Given the description of an element on the screen output the (x, y) to click on. 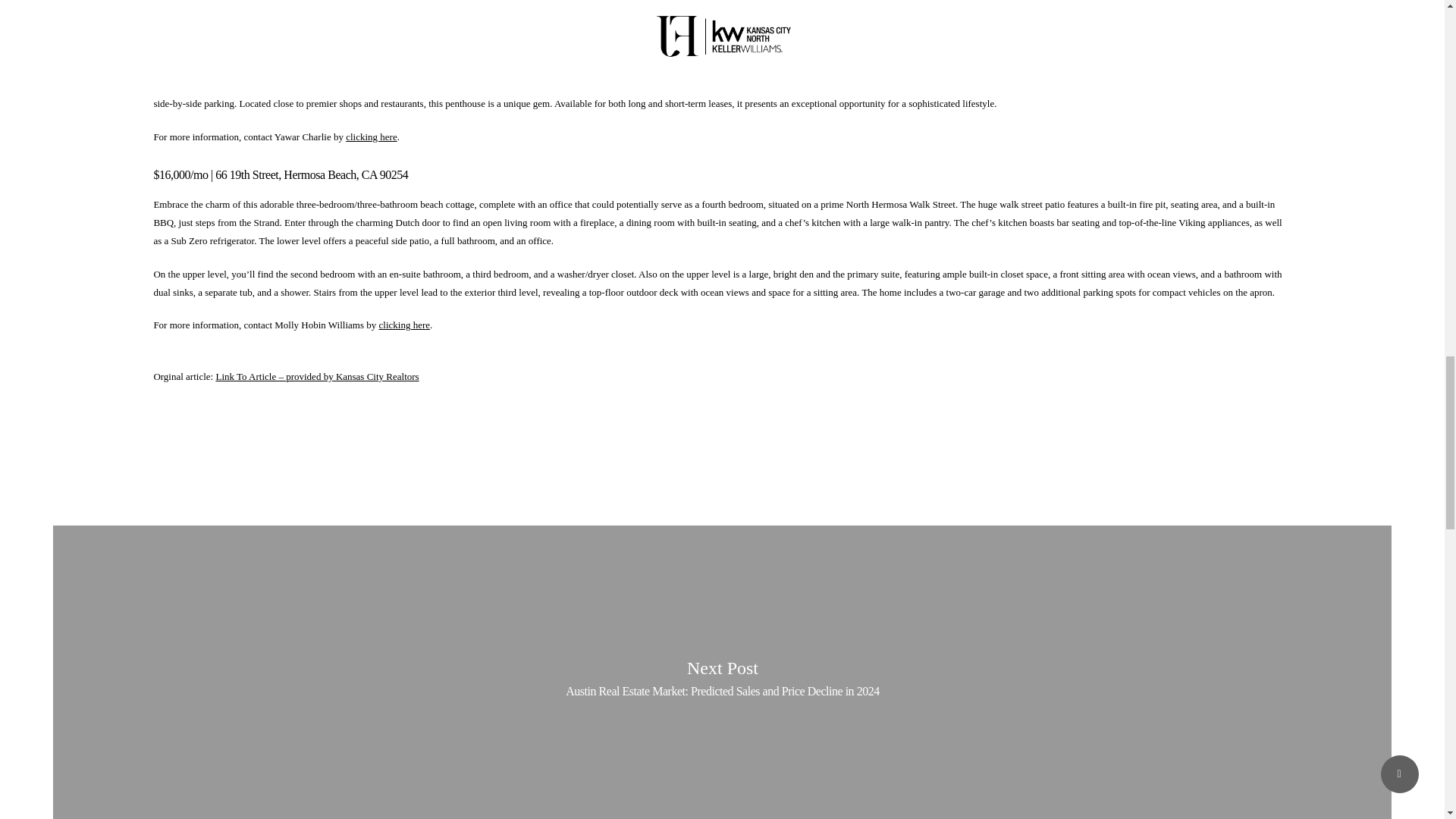
clicking here (372, 2)
clicking here (371, 136)
clicking here (404, 324)
